Given the description of an element on the screen output the (x, y) to click on. 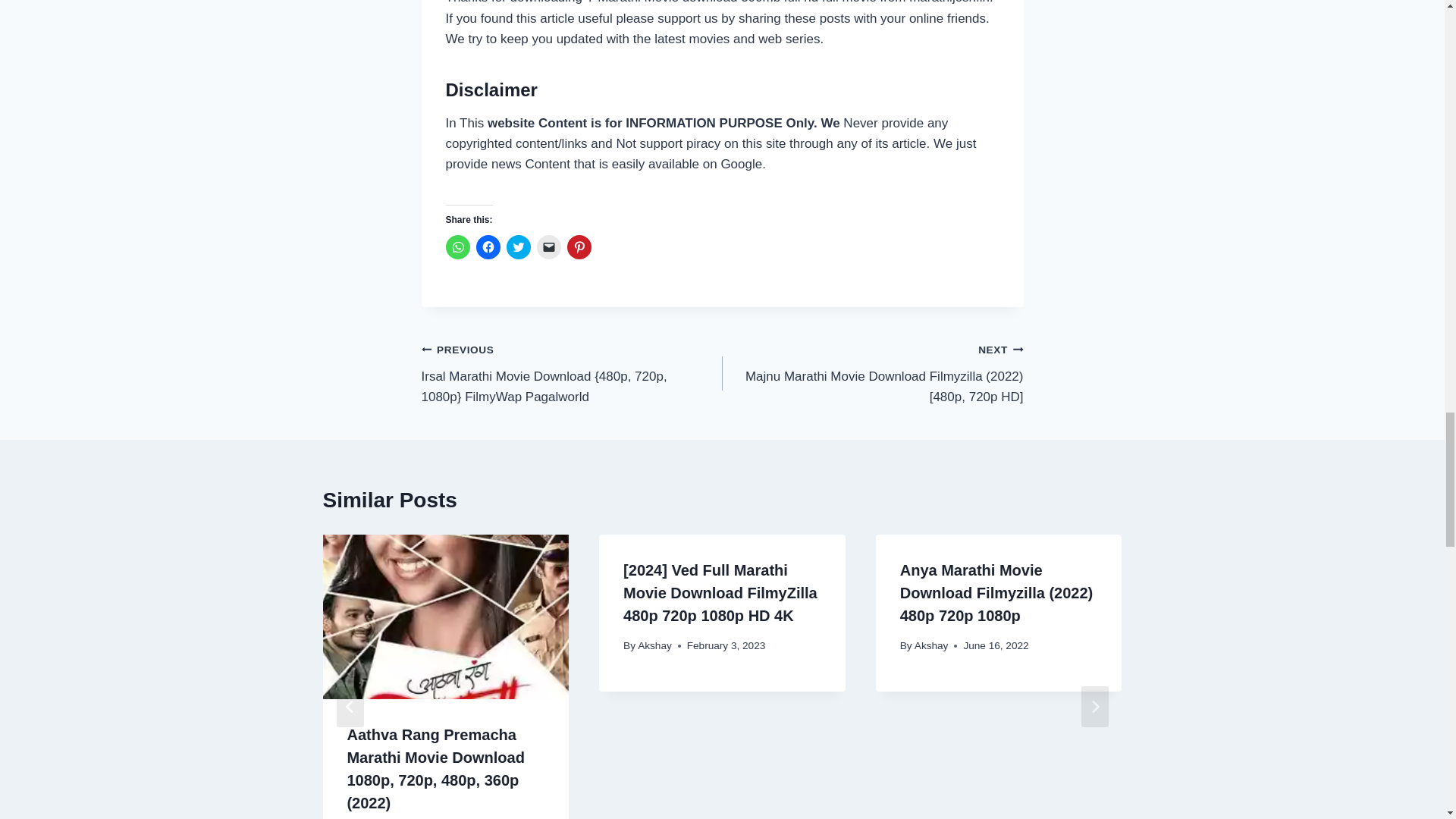
Click to share on Facebook (488, 247)
Click to share on WhatsApp (457, 247)
